Given the description of an element on the screen output the (x, y) to click on. 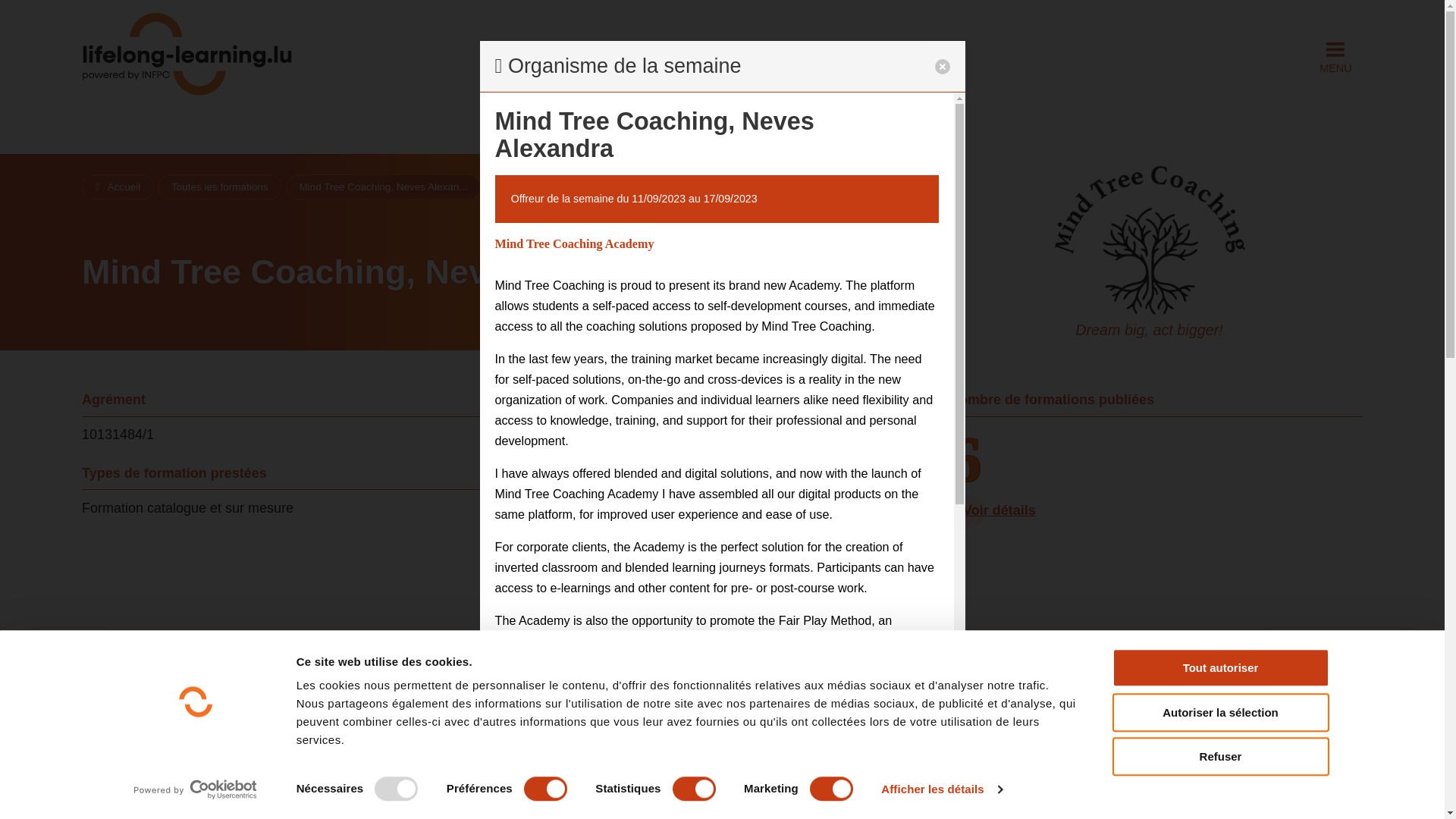
English (527, 584)
